Given the description of an element on the screen output the (x, y) to click on. 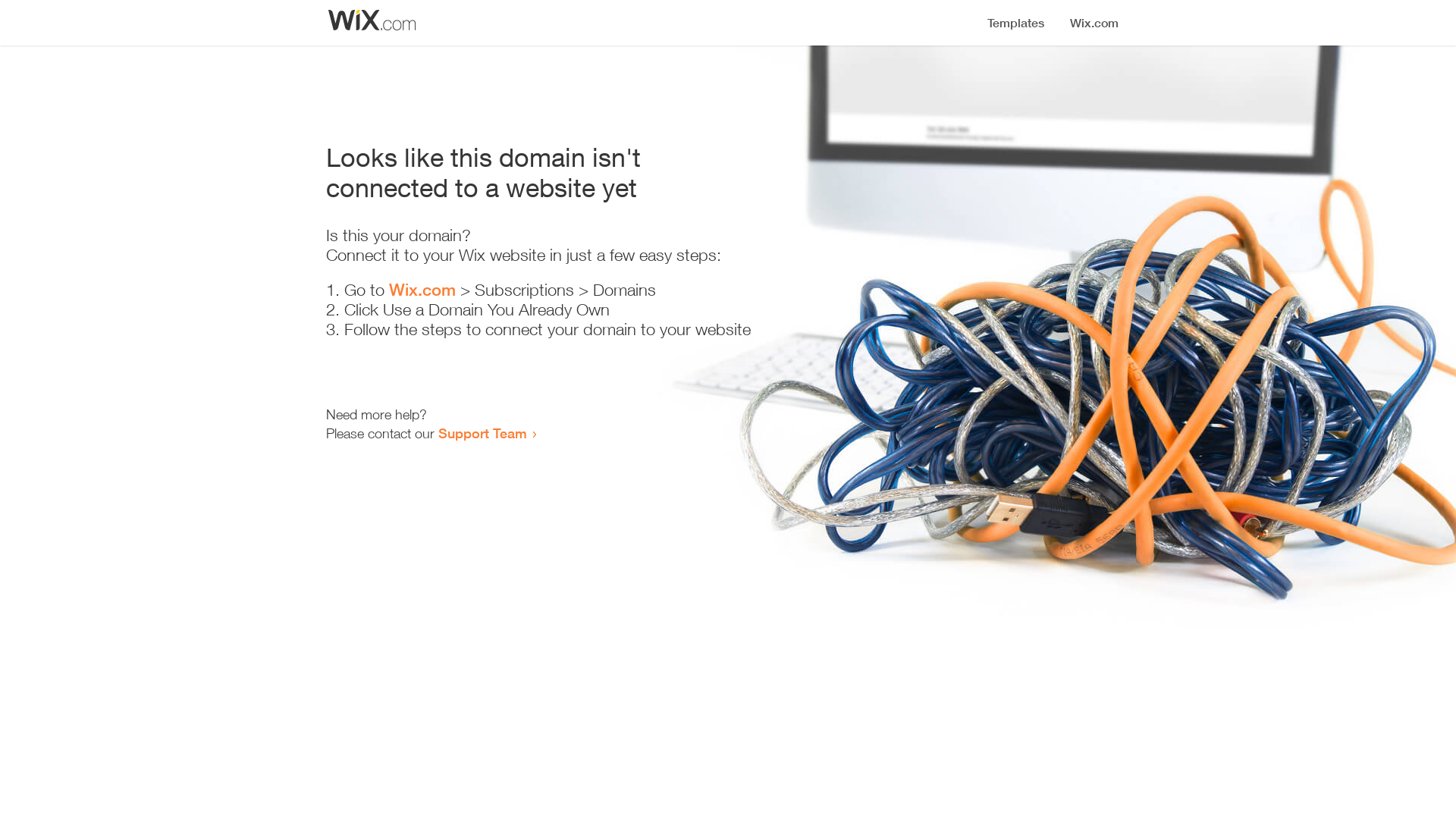
Wix.com Element type: text (422, 289)
Support Team Element type: text (482, 432)
